Given the description of an element on the screen output the (x, y) to click on. 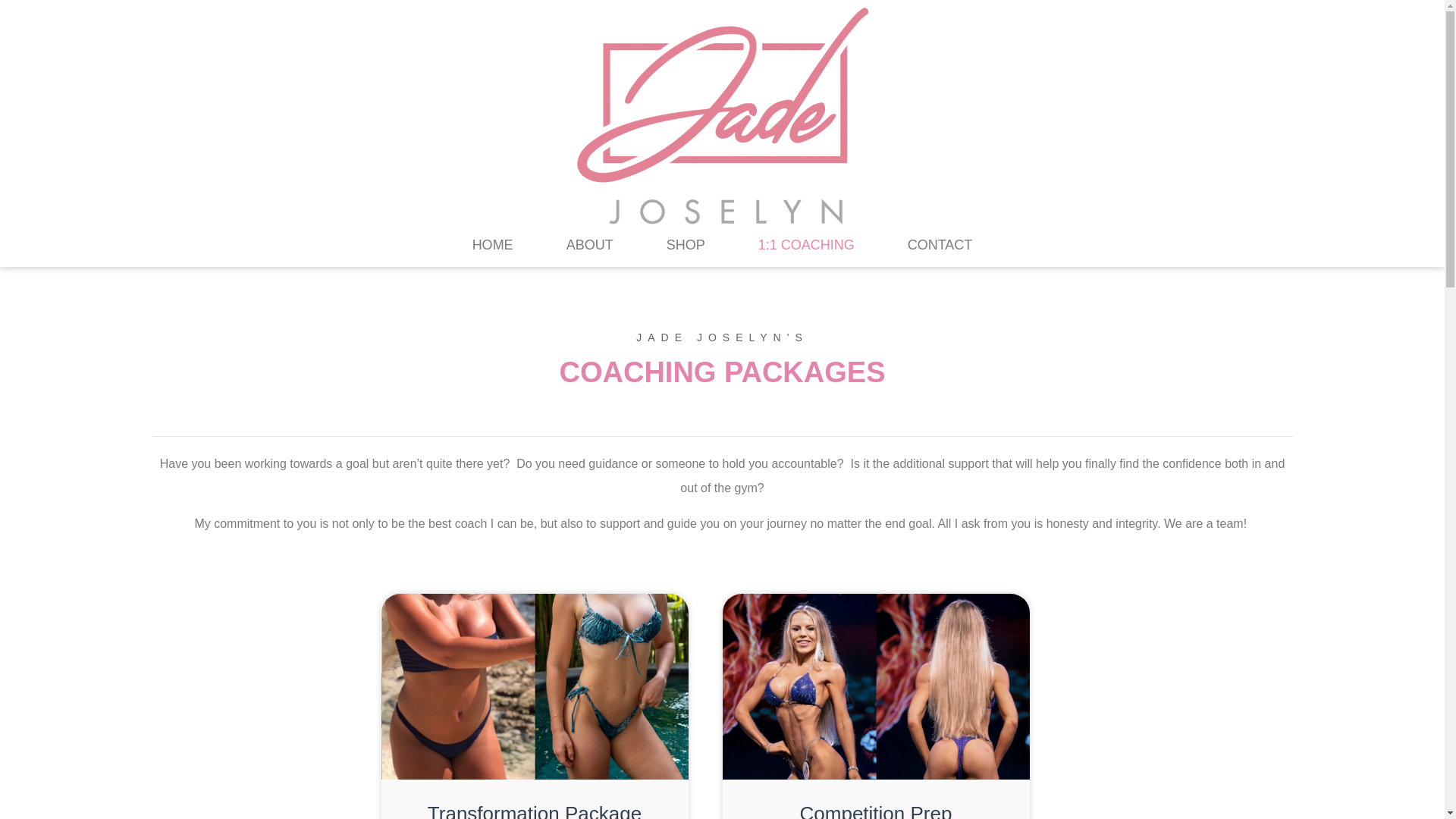
HOME (492, 244)
1:1 COACHING (805, 244)
CONTACT (940, 244)
ABOUT (589, 244)
SHOP (685, 244)
